Given the description of an element on the screen output the (x, y) to click on. 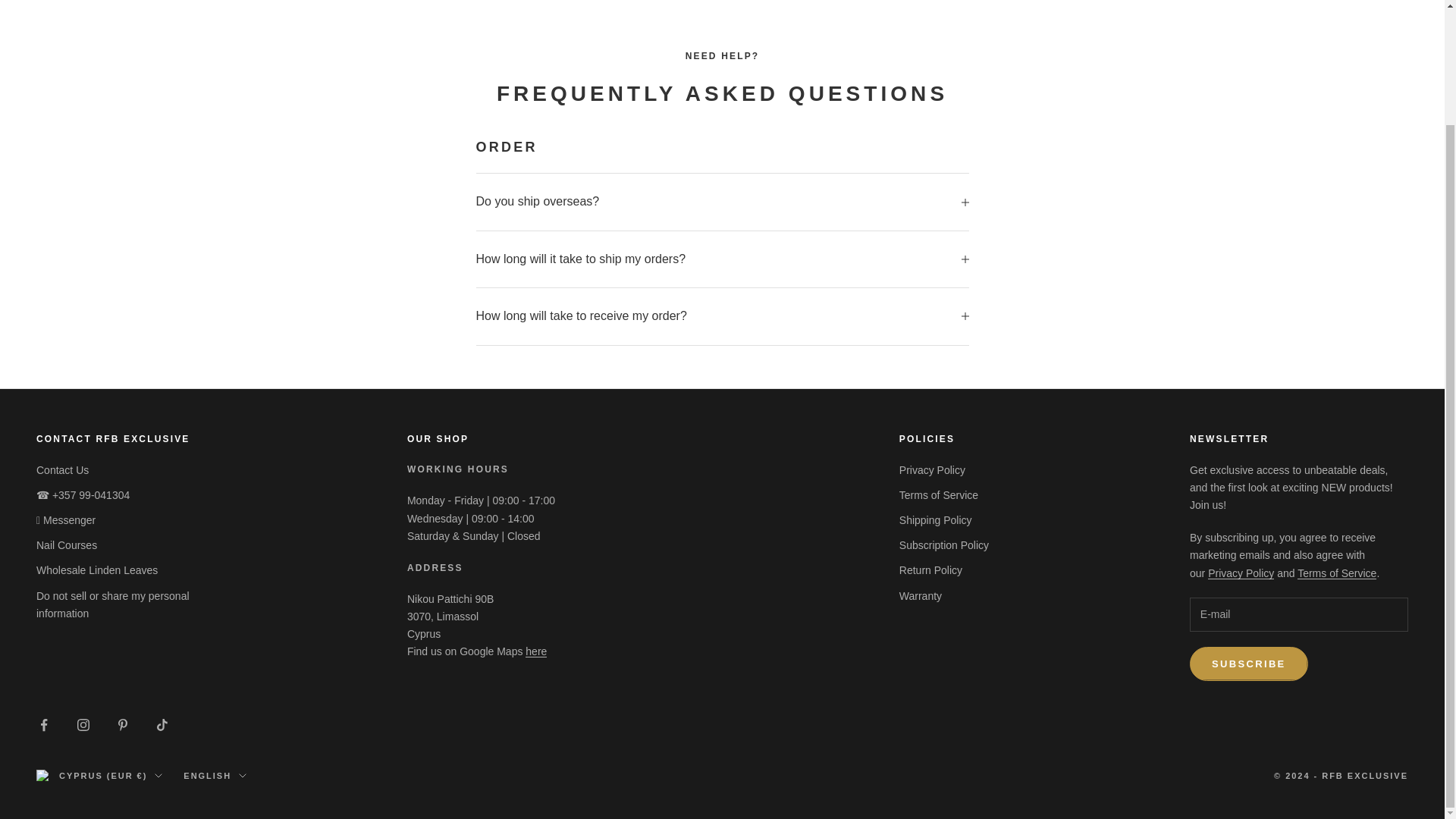
RFB Exclusive Shop (536, 651)
Terms Of Service (1336, 573)
Privacy Policy (1241, 573)
